Given the description of an element on the screen output the (x, y) to click on. 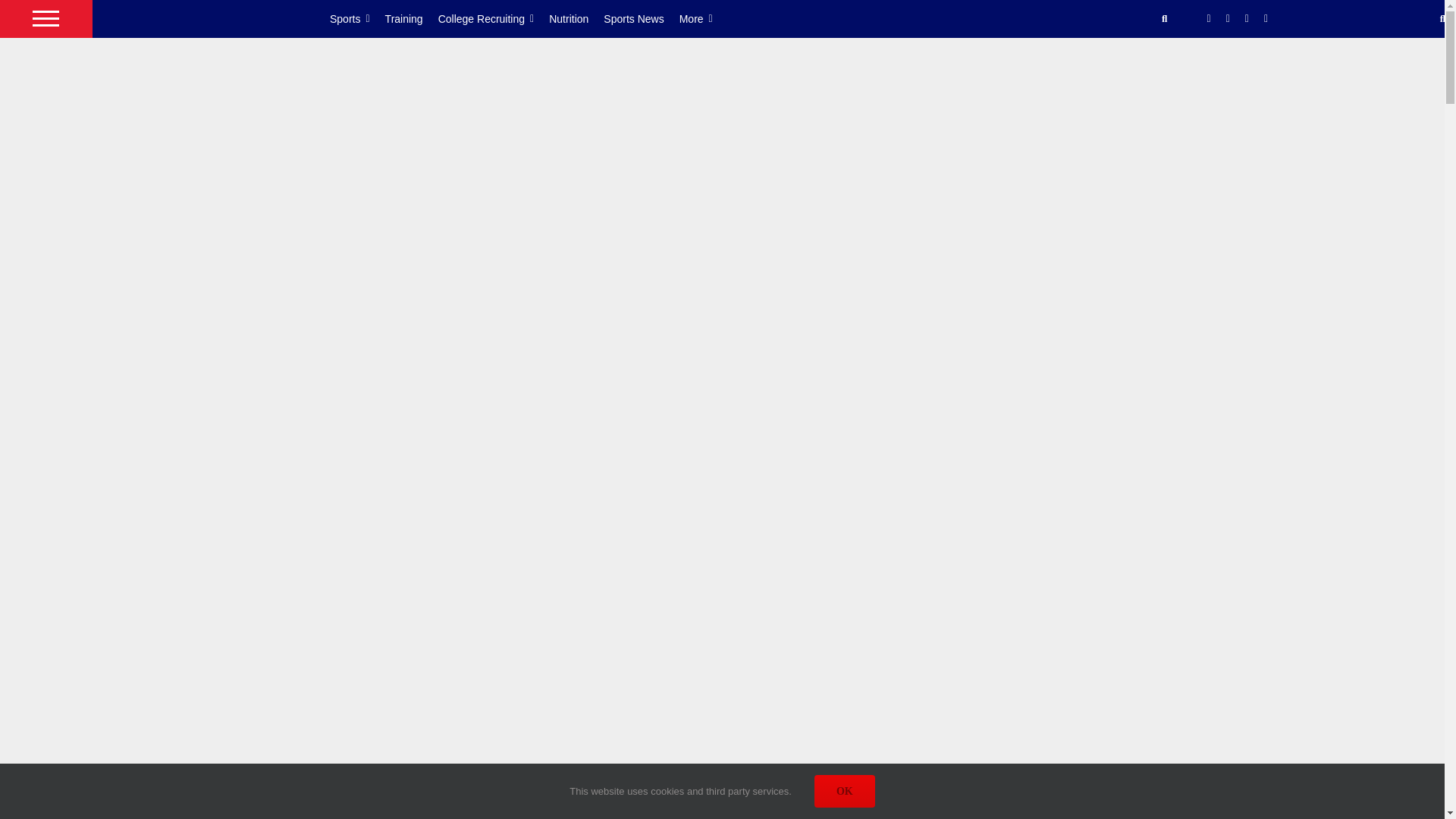
More (703, 18)
College Recruiting (494, 18)
Nutrition (576, 18)
Sports (357, 18)
Sports News (641, 18)
Training (411, 18)
